Given the description of an element on the screen output the (x, y) to click on. 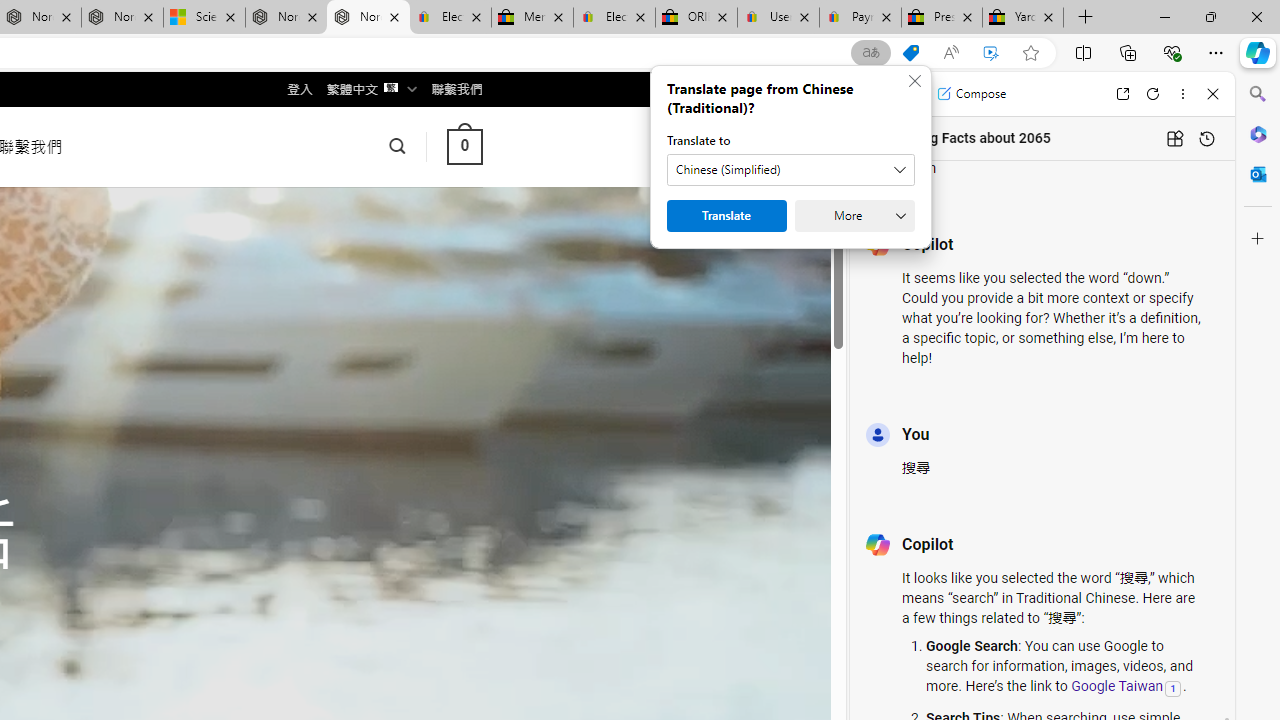
Enhance video (991, 53)
Payments Terms of Use | eBay.com (860, 17)
Translate (726, 215)
  0   (464, 146)
This site has coupons! Shopping in Microsoft Edge (910, 53)
Compose (971, 93)
